Given the description of an element on the screen output the (x, y) to click on. 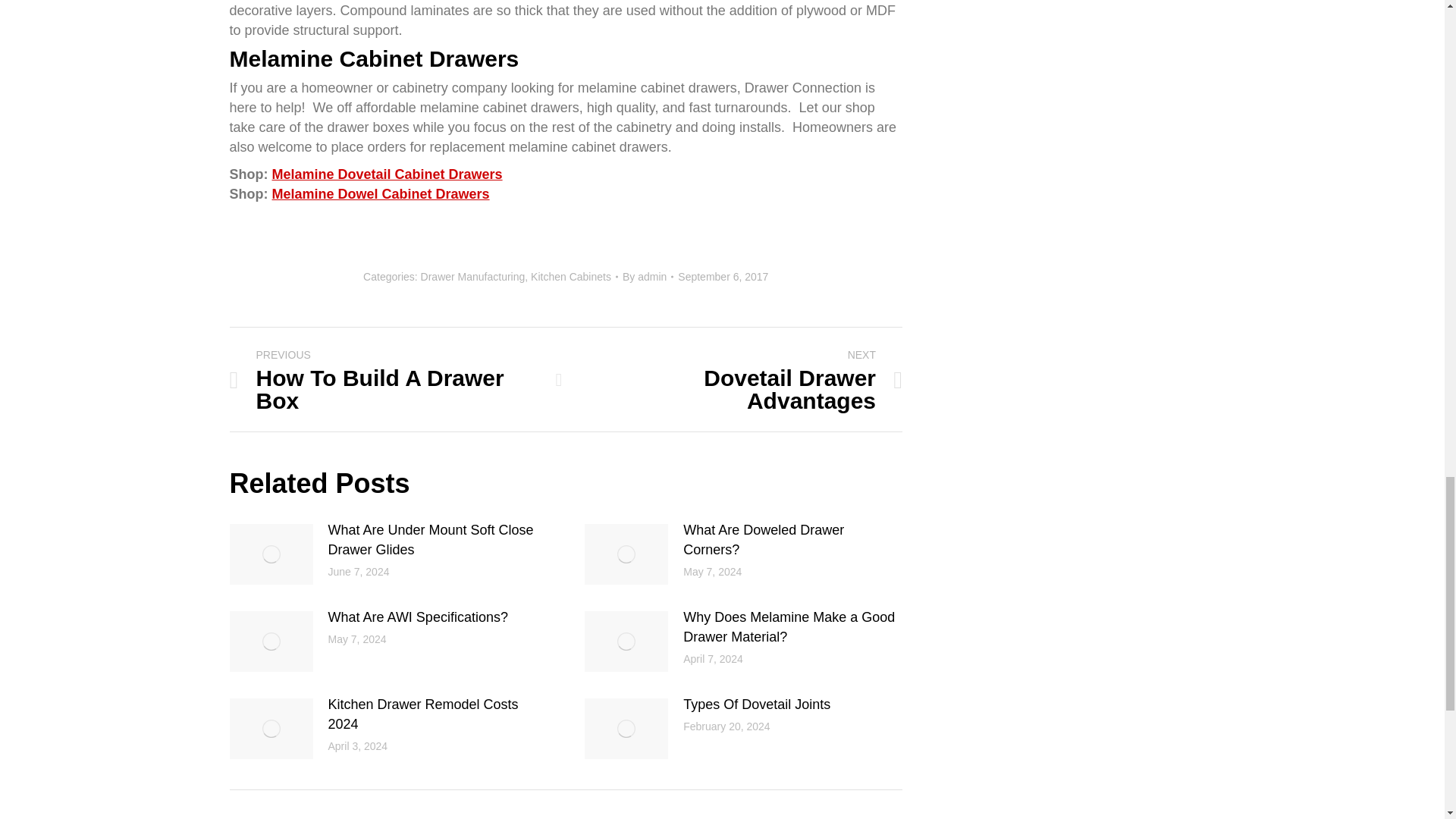
Melamine Dovetail Cabinet Drawers (386, 174)
4:27 pm (723, 276)
View all posts by admin (647, 276)
